Given the description of an element on the screen output the (x, y) to click on. 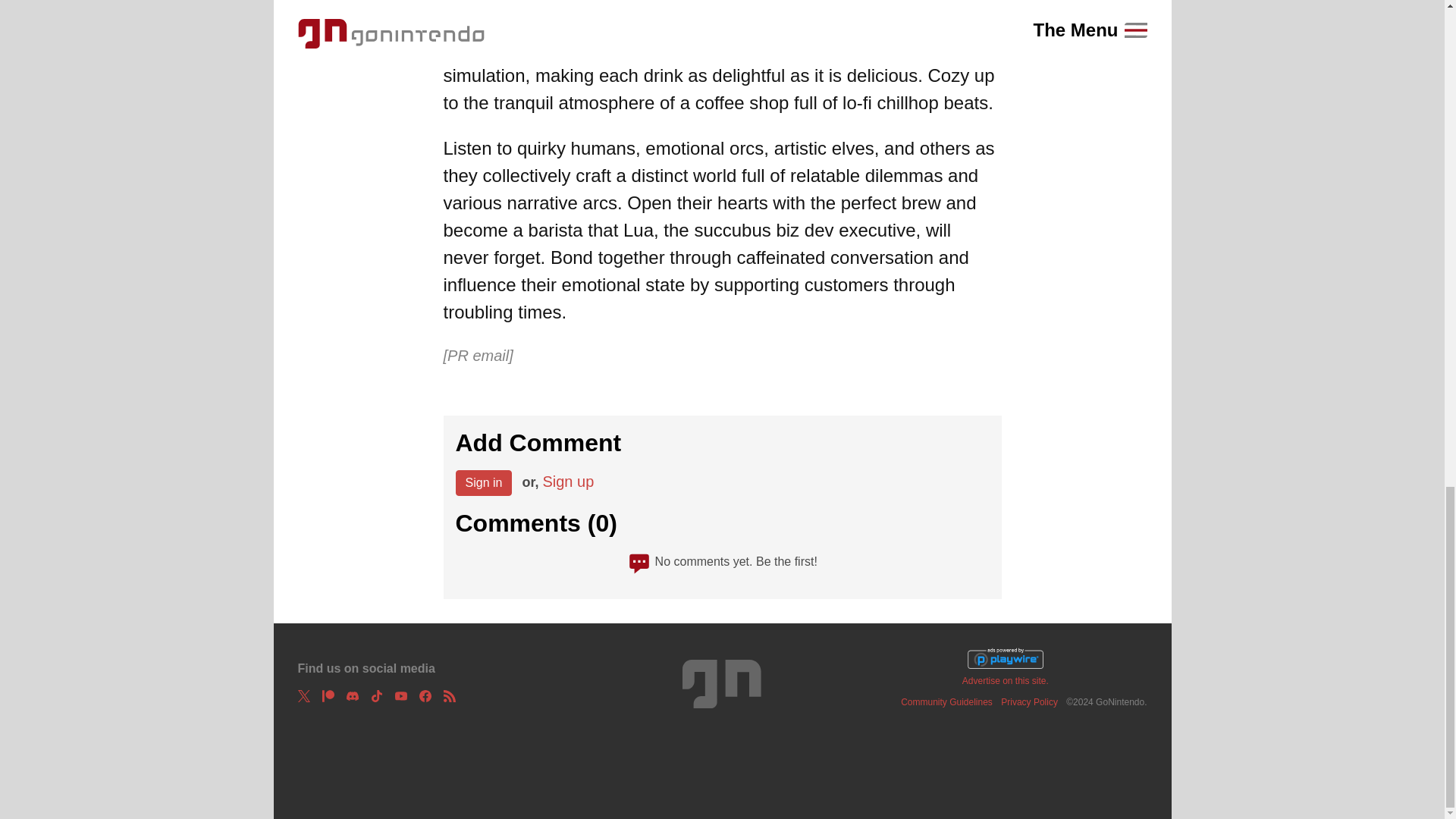
Discord Invite (352, 695)
Support GN on Patreon (327, 695)
Follow us on X (302, 695)
